Given the description of an element on the screen output the (x, y) to click on. 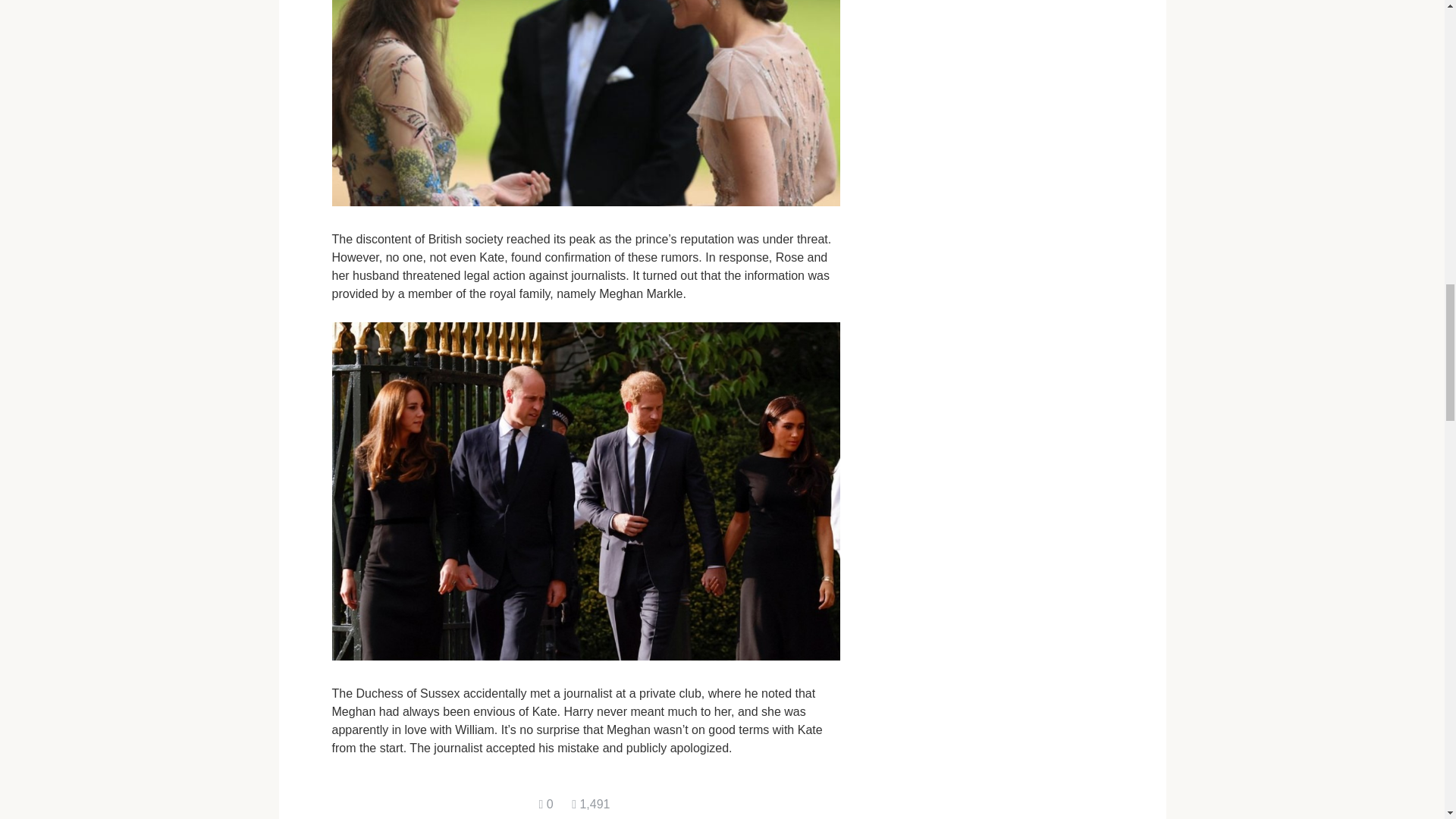
Views (591, 803)
Comments (545, 803)
